Given the description of an element on the screen output the (x, y) to click on. 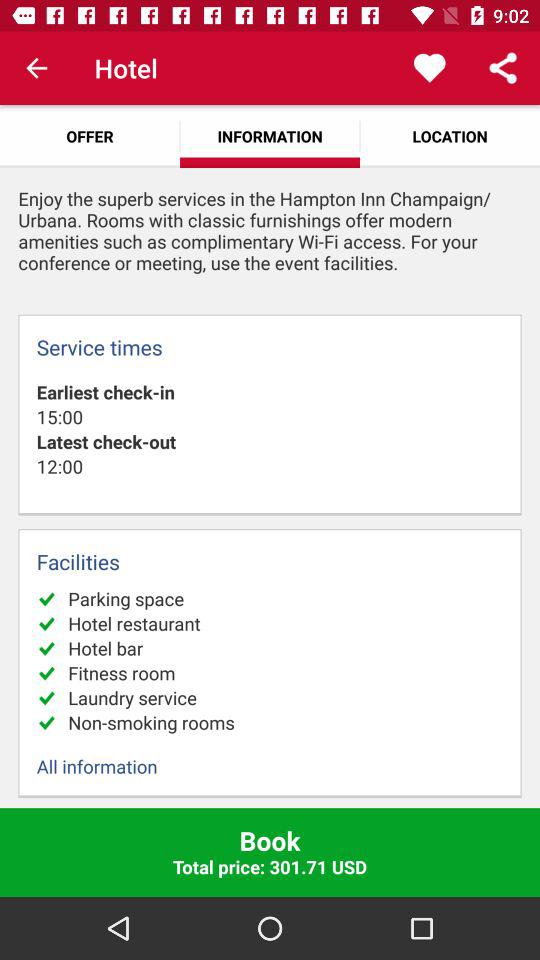
open location app (450, 136)
